Given the description of an element on the screen output the (x, y) to click on. 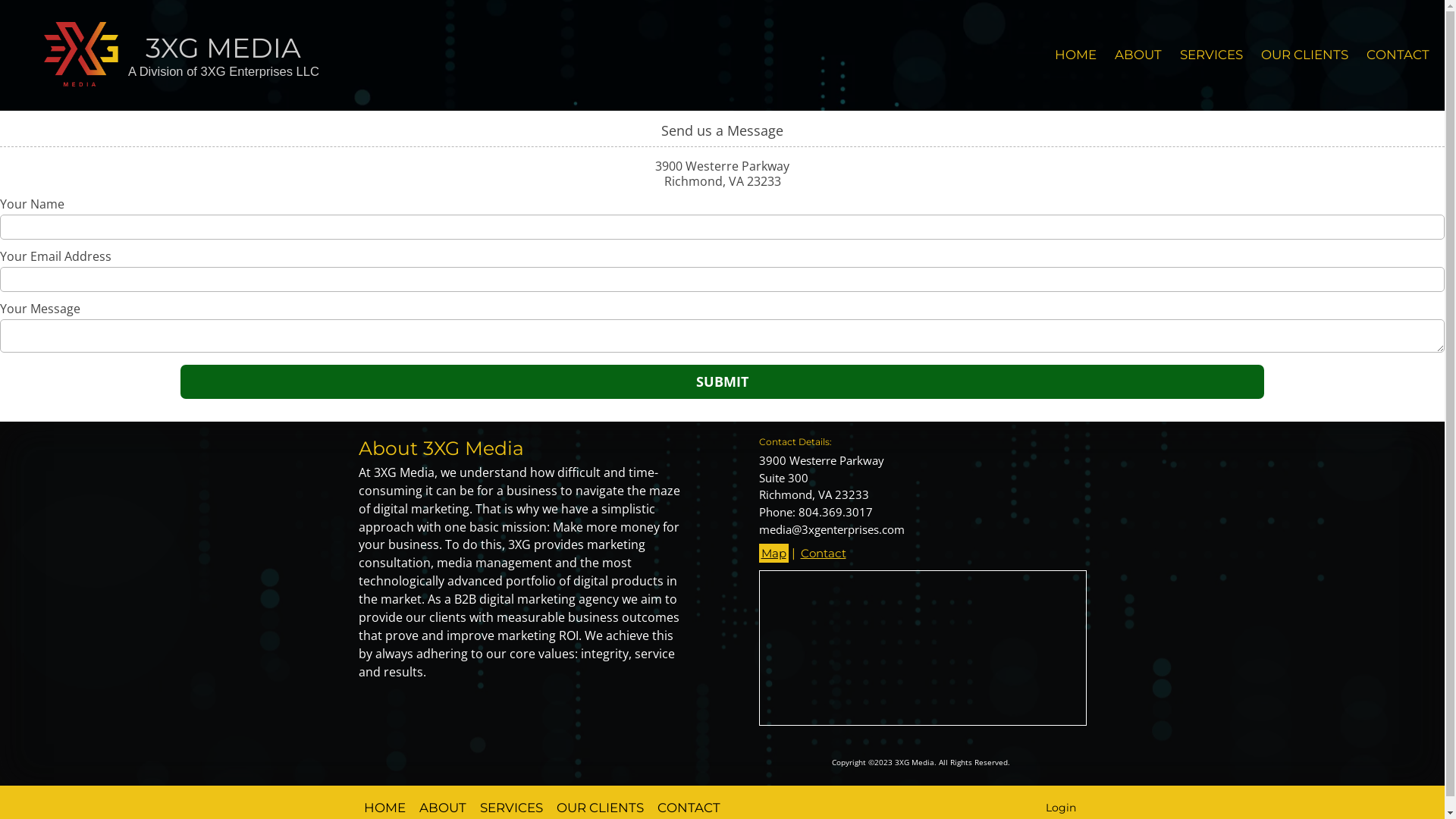
ABOUT Element type: text (1137, 54)
OUR CLIENTS Element type: text (1304, 54)
Contact Element type: text (822, 552)
3XG MEDIA Element type: text (223, 47)
HOME Element type: text (1075, 54)
Submit Element type: text (722, 381)
804.369.3017 Element type: text (834, 511)
SERVICES Element type: text (1211, 54)
Map Element type: text (772, 552)
media@3xgenterprises.com Element type: text (830, 528)
CONTACT Element type: text (1397, 54)
